Given the description of an element on the screen output the (x, y) to click on. 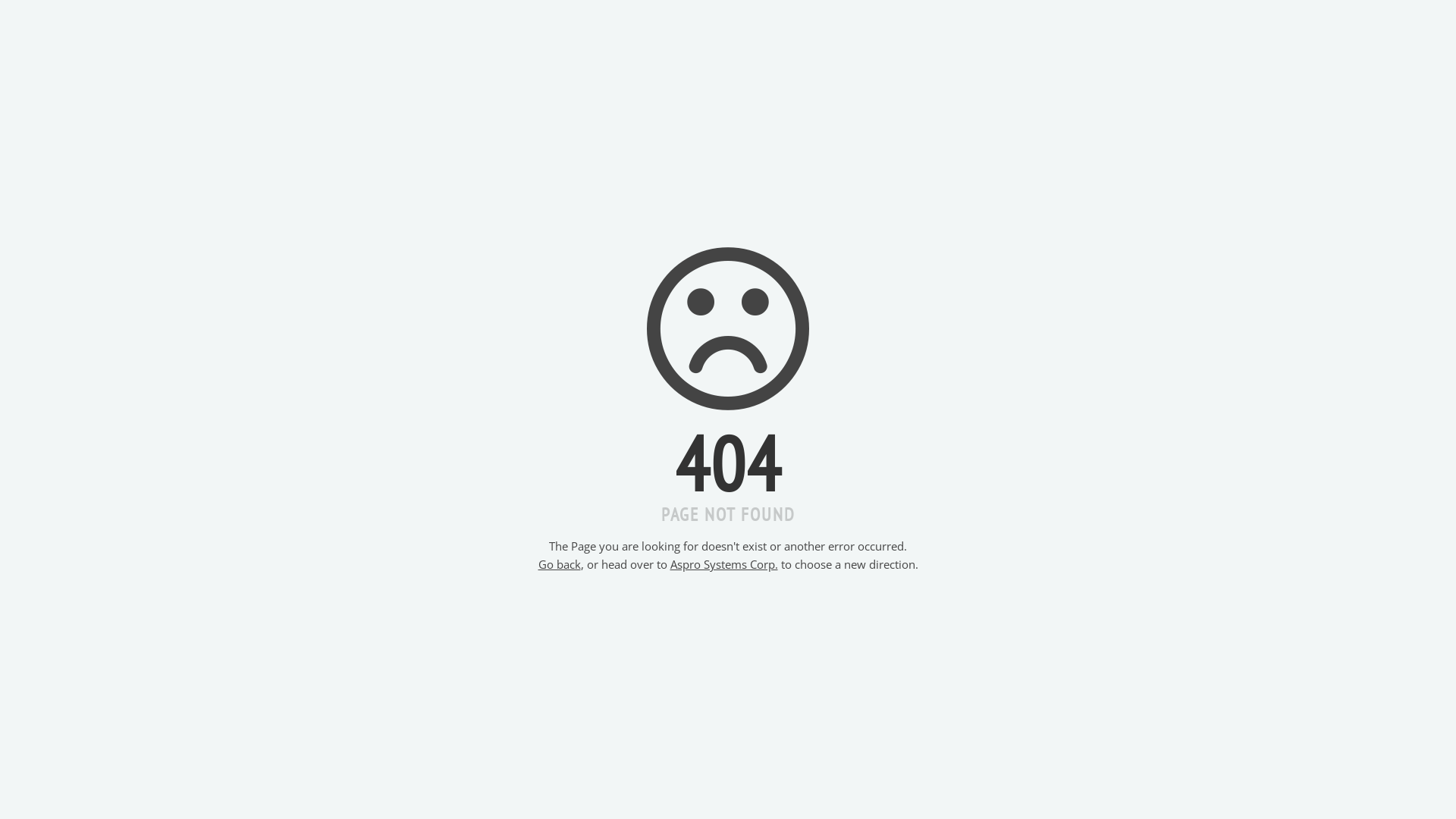
Go back Element type: text (559, 563)
Aspro Systems Corp. Element type: text (724, 563)
